Given the description of an element on the screen output the (x, y) to click on. 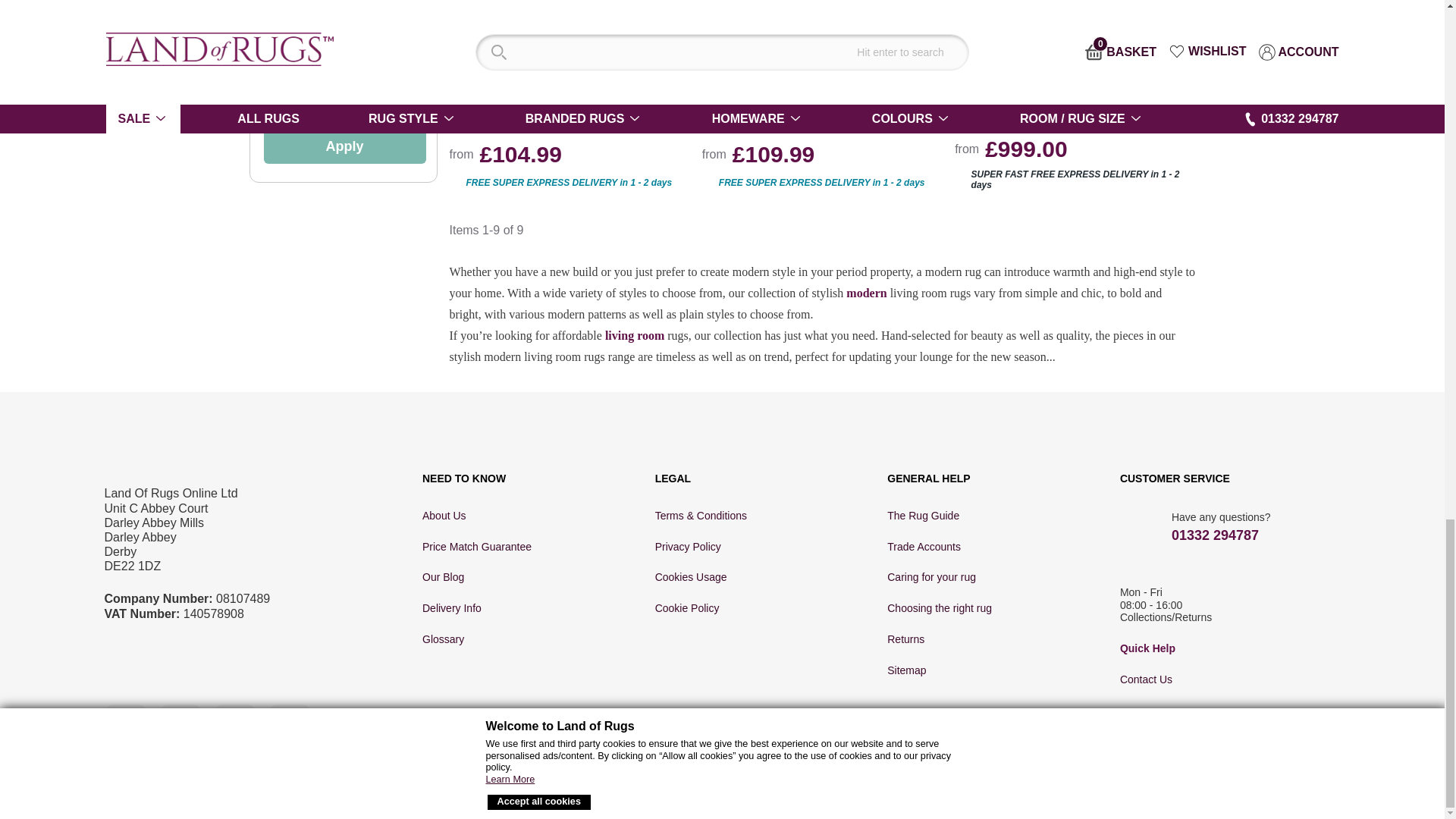
19 (298, 102)
2399 (386, 102)
